Given the description of an element on the screen output the (x, y) to click on. 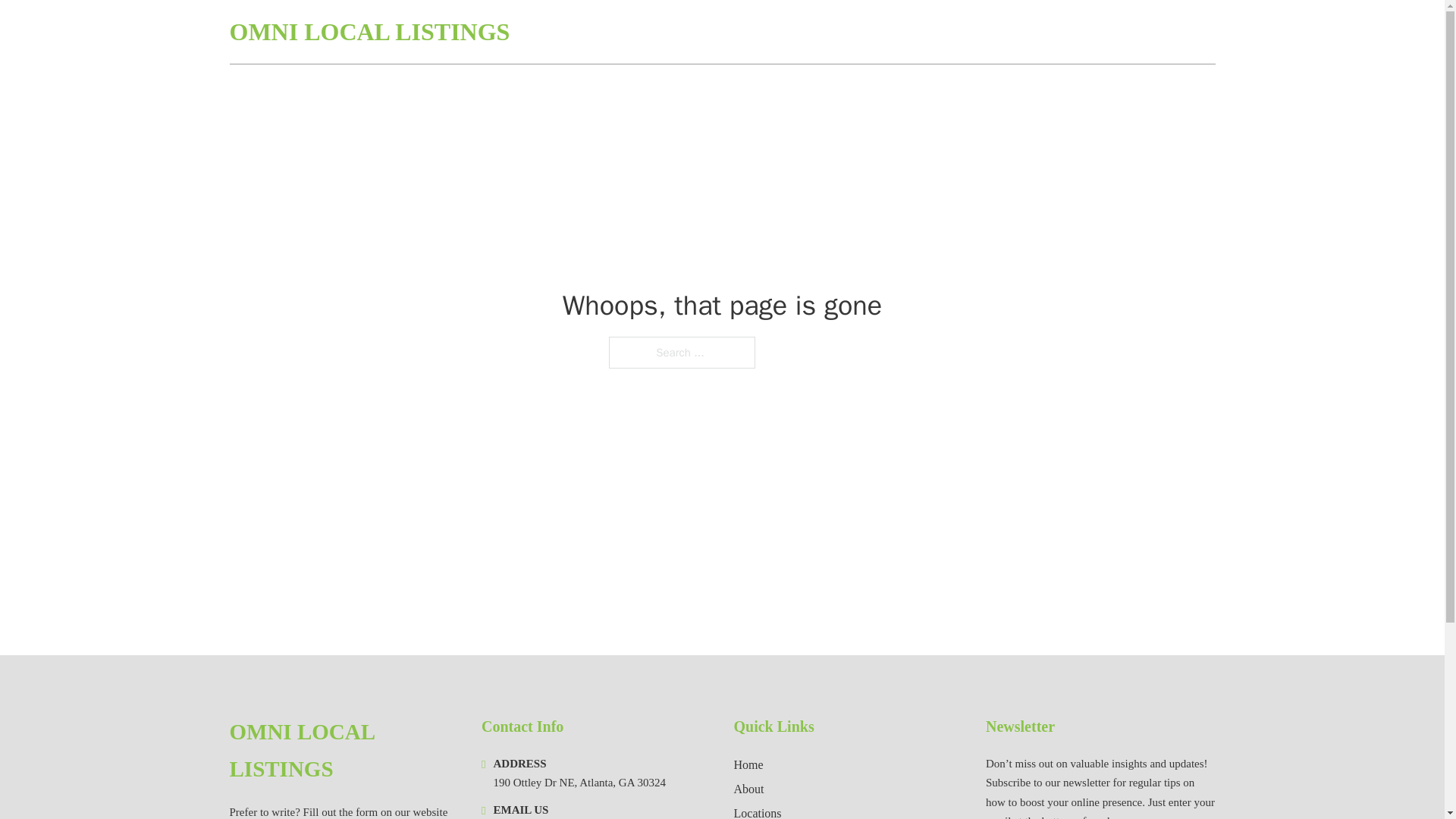
Locations (757, 811)
About (748, 788)
Home (747, 764)
LOCATIONS (1105, 31)
OMNI LOCAL LISTINGS (343, 750)
HOME (1032, 31)
OMNI LOCAL LISTINGS (368, 31)
